Given the description of an element on the screen output the (x, y) to click on. 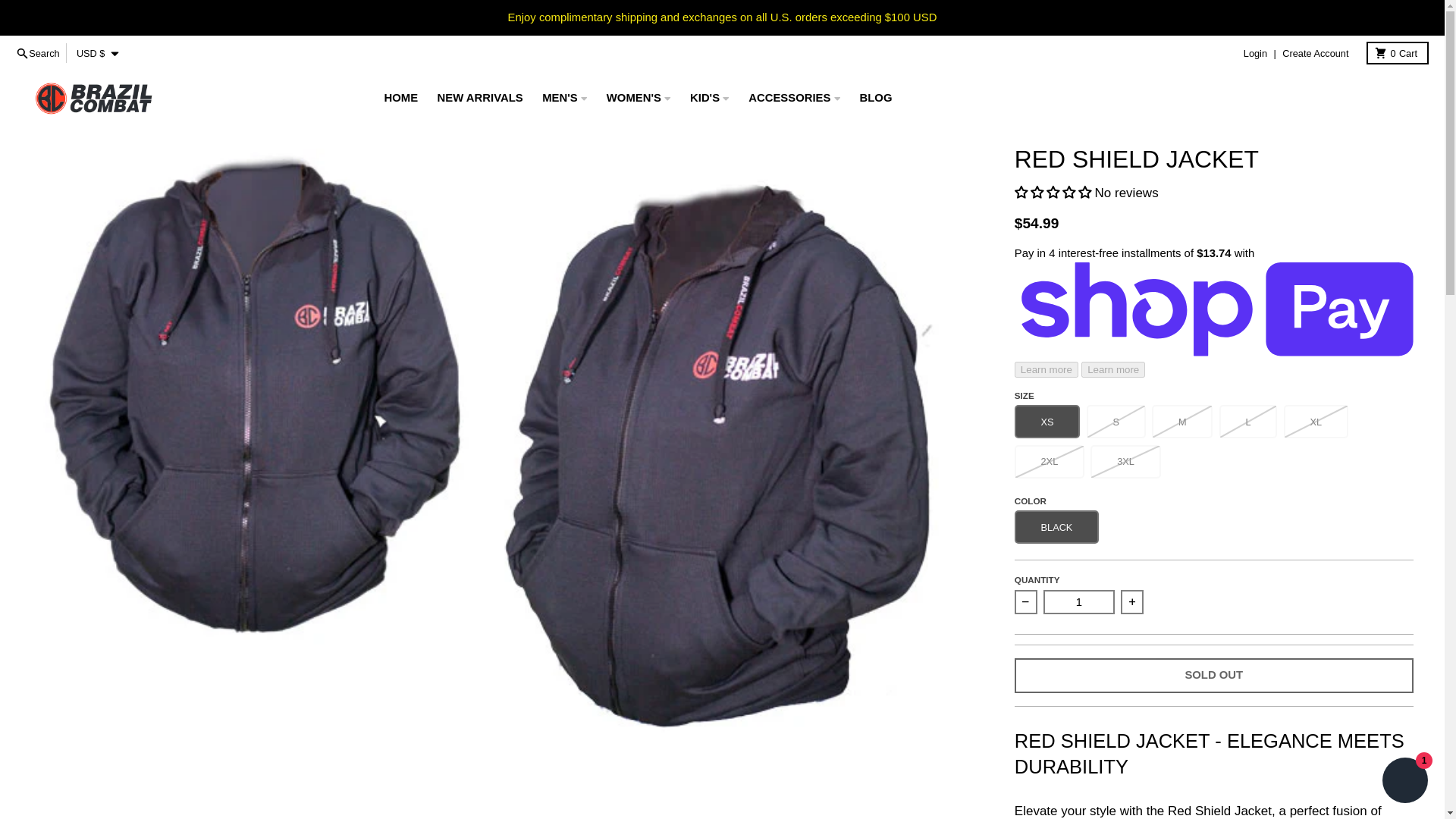
L (1397, 52)
BLACK (37, 53)
Shopify online store chat (1254, 52)
XL (1324, 52)
XS (1404, 781)
